Given the description of an element on the screen output the (x, y) to click on. 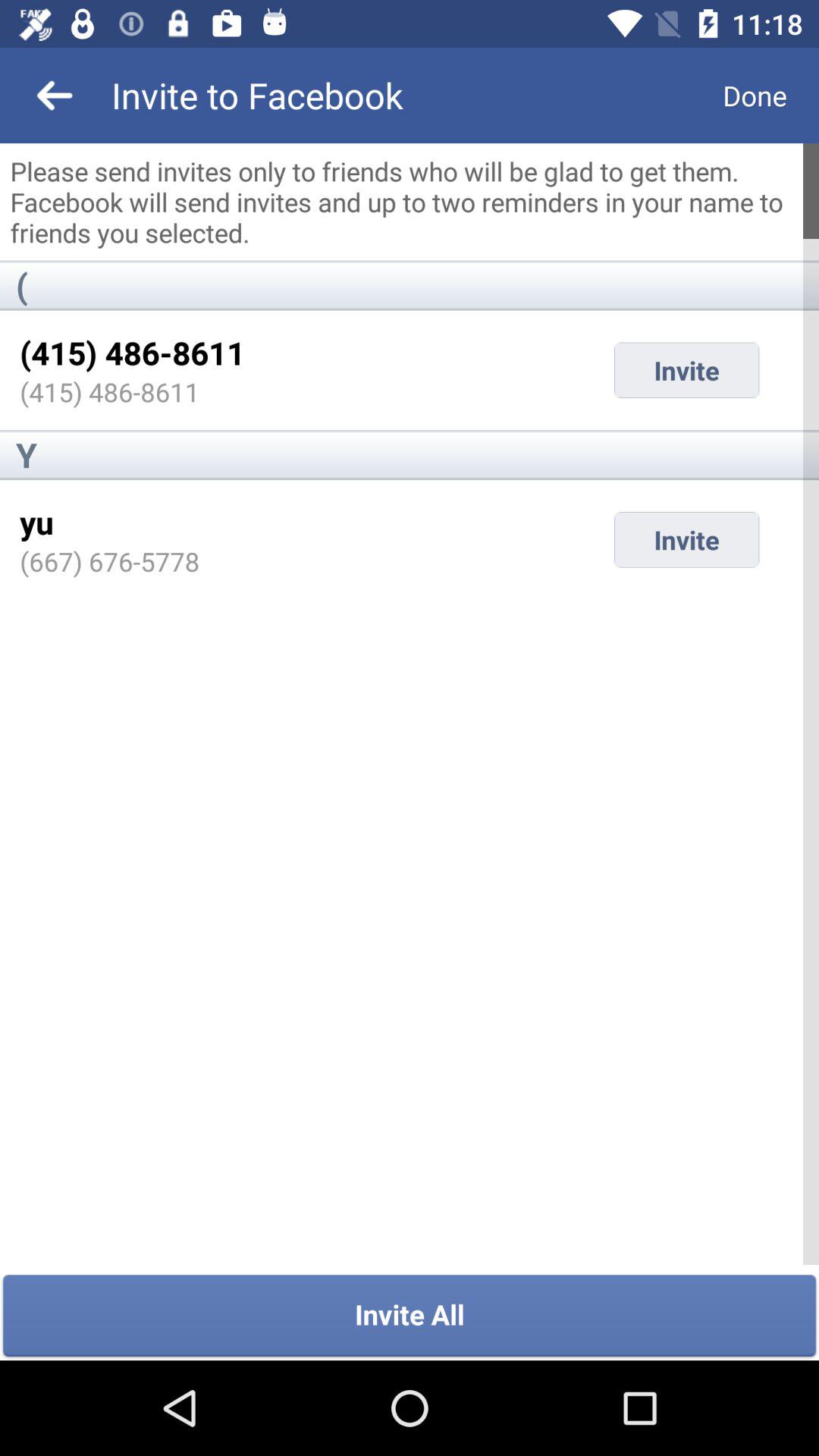
press invite all item (409, 1316)
